Given the description of an element on the screen output the (x, y) to click on. 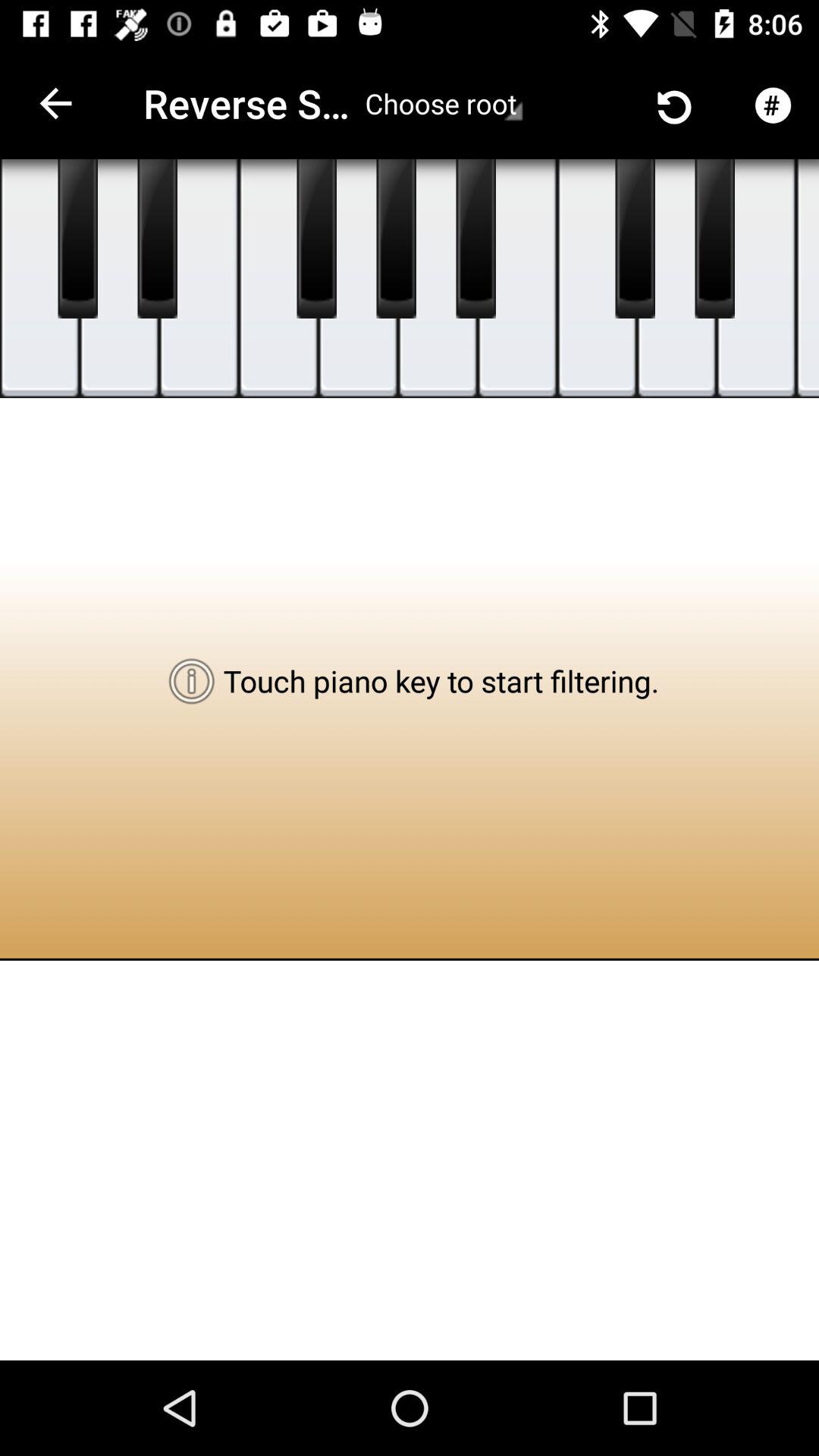
start filtering (316, 238)
